Given the description of an element on the screen output the (x, y) to click on. 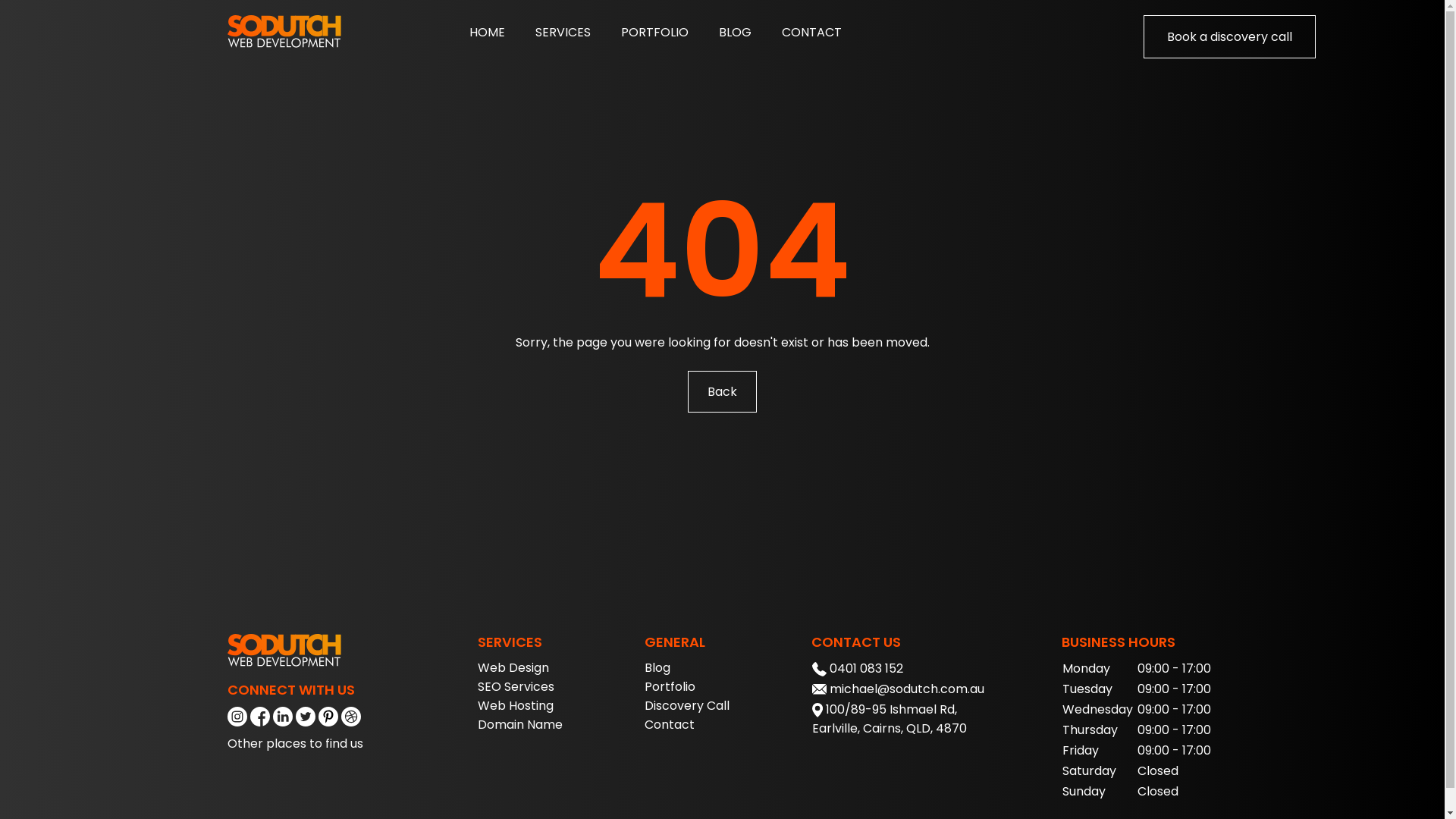
PORTFOLIO Element type: text (654, 31)
SERVICES Element type: text (562, 31)
Web Hosting Element type: text (515, 705)
Contact Element type: text (669, 724)
HOME Element type: text (487, 31)
Portfolio Element type: text (669, 686)
Blog Element type: text (657, 667)
Other places to find us Element type: text (295, 743)
BLOG Element type: text (734, 31)
100/89-95 Ishmael Rd,
Earlville, Cairns, QLD, 4870 Element type: text (889, 718)
Discovery Call Element type: text (686, 705)
michael@sodutch.com.au Element type: text (906, 688)
SEO Services Element type: text (515, 686)
Book a discovery call Element type: text (1229, 36)
Web Design Element type: text (513, 667)
0401 083 152 Element type: text (866, 668)
CONTACT Element type: text (811, 31)
Back Element type: text (721, 391)
Domain Name Element type: text (519, 724)
